Given the description of an element on the screen output the (x, y) to click on. 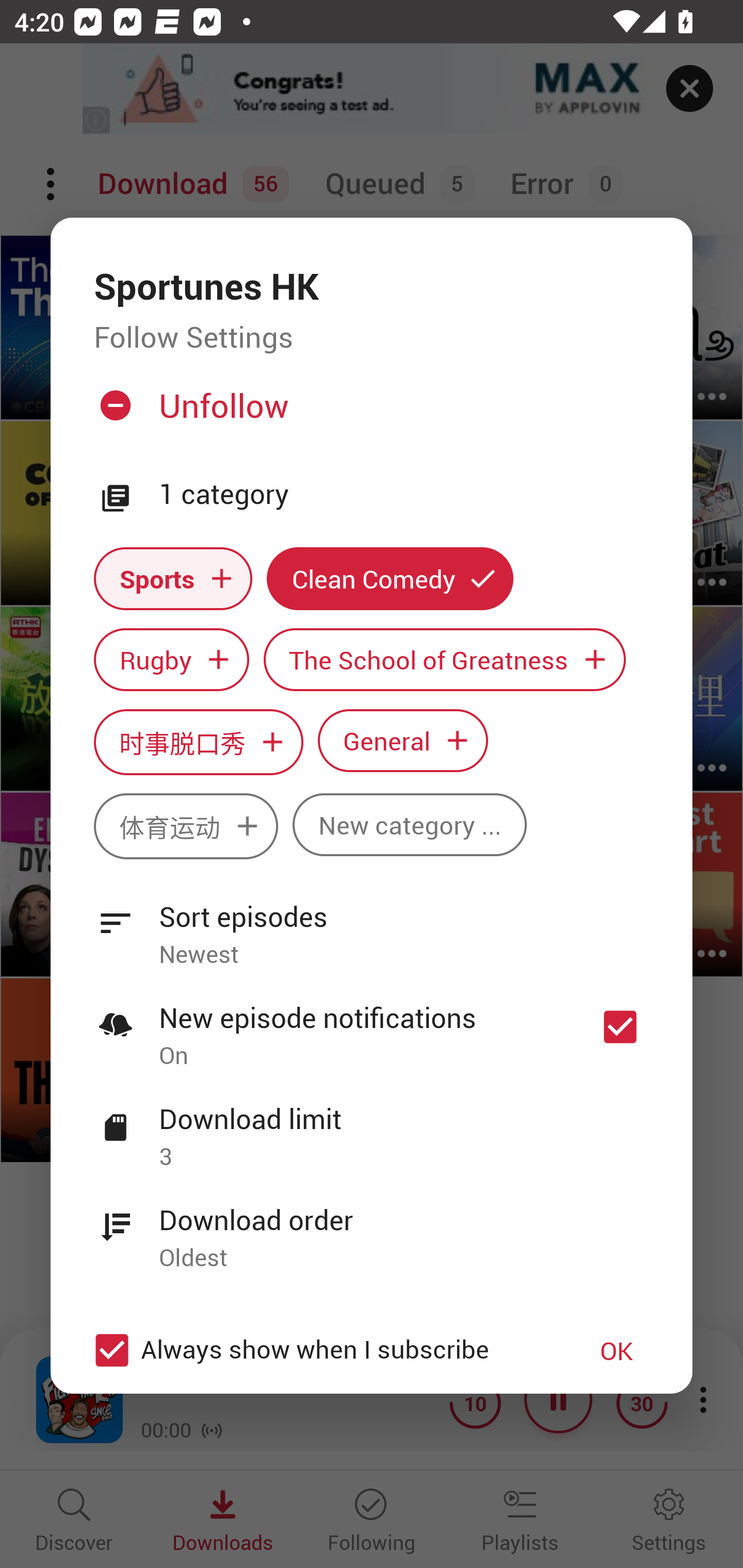
Unfollow (369, 413)
1 category (404, 494)
Sports (172, 578)
Clean Comedy (389, 578)
Rugby (170, 659)
The School of Greatness (444, 659)
时事脱口秀 (198, 741)
General (403, 739)
体育运动 (185, 826)
New category ... (409, 824)
Sort episodes Newest (371, 924)
New episode notifications (620, 1026)
Download limit 3 (371, 1126)
Download order Oldest (371, 1227)
OK (616, 1350)
Always show when I subscribe (320, 1350)
